Given the description of an element on the screen output the (x, y) to click on. 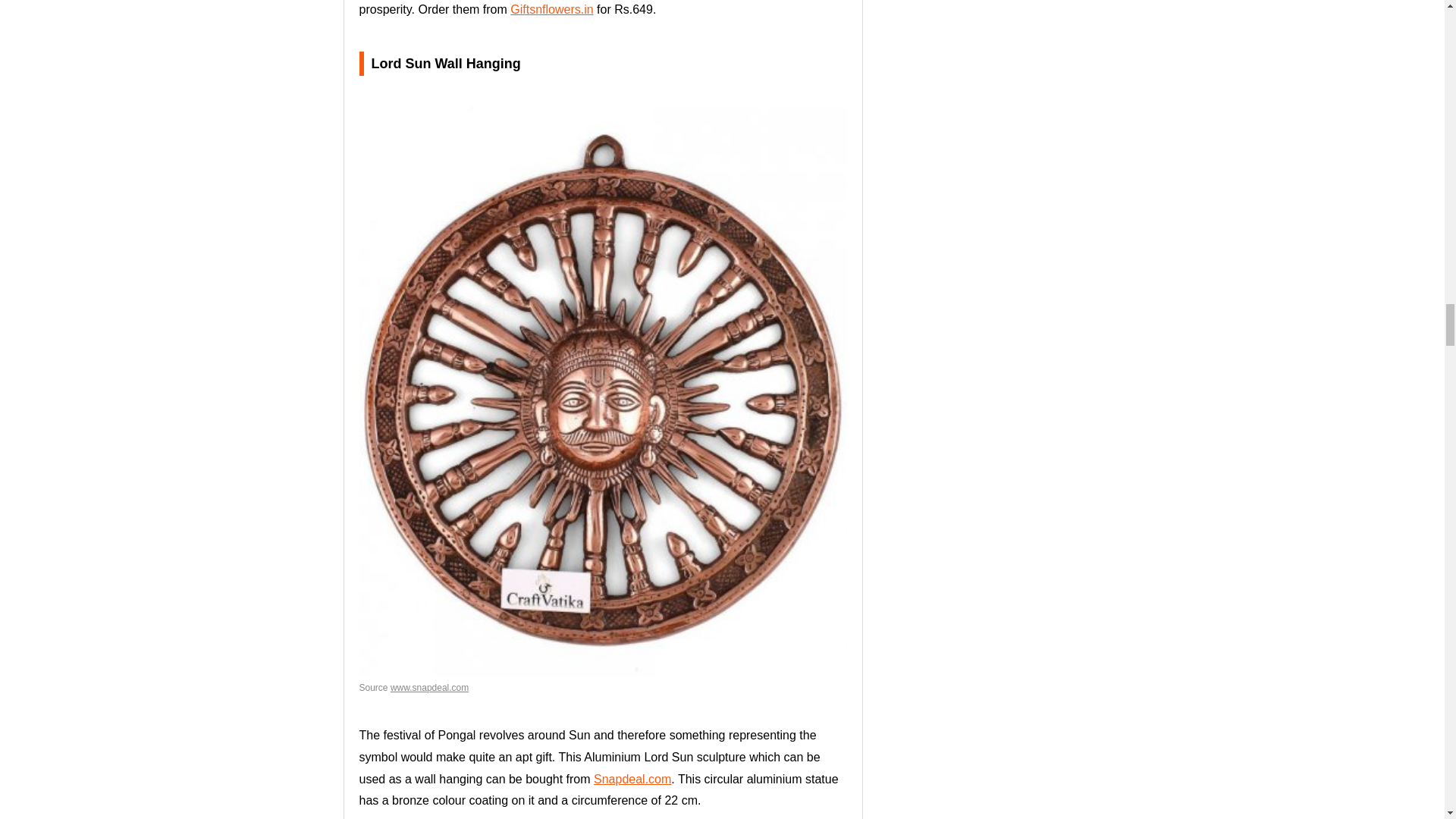
www.snapdeal.com (429, 687)
Snapdeal.com (632, 779)
Giftsnflowers.in (551, 9)
